Given the description of an element on the screen output the (x, y) to click on. 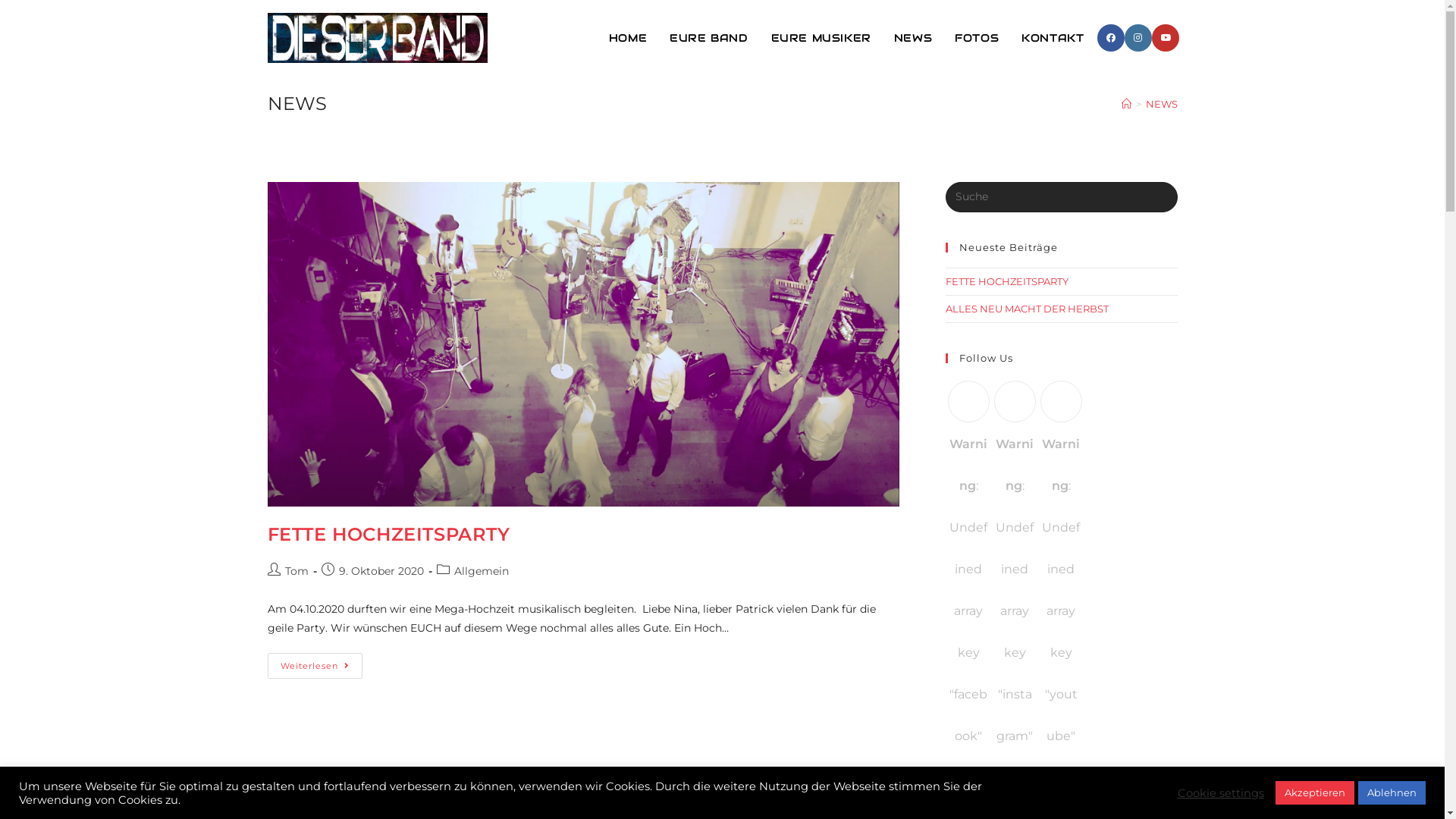
ALLES NEU MACHT DER HERBST Element type: text (1025, 308)
Allgemein Element type: text (480, 570)
Akzeptieren Element type: text (1314, 792)
EURE MUSIKER Element type: text (820, 37)
Impressum Element type: text (930, 800)
FETTE HOCHZEITSPARTY Element type: text (387, 534)
FOTOS Element type: text (976, 37)
Tom Element type: text (296, 570)
Ablehnen Element type: text (1391, 792)
PRESSEDOWNLOAD Element type: text (1129, 800)
HOME Element type: text (627, 37)
NEWS Element type: text (1160, 103)
NEWS Element type: text (912, 37)
FETTE HOCHZEITSPARTY Element type: text (1005, 281)
KONTAKT Element type: text (1052, 37)
Cookie settings Element type: text (1220, 792)
EURE BAND Element type: text (708, 37)
Weiterlesen Element type: text (313, 665)
